Given the description of an element on the screen output the (x, y) to click on. 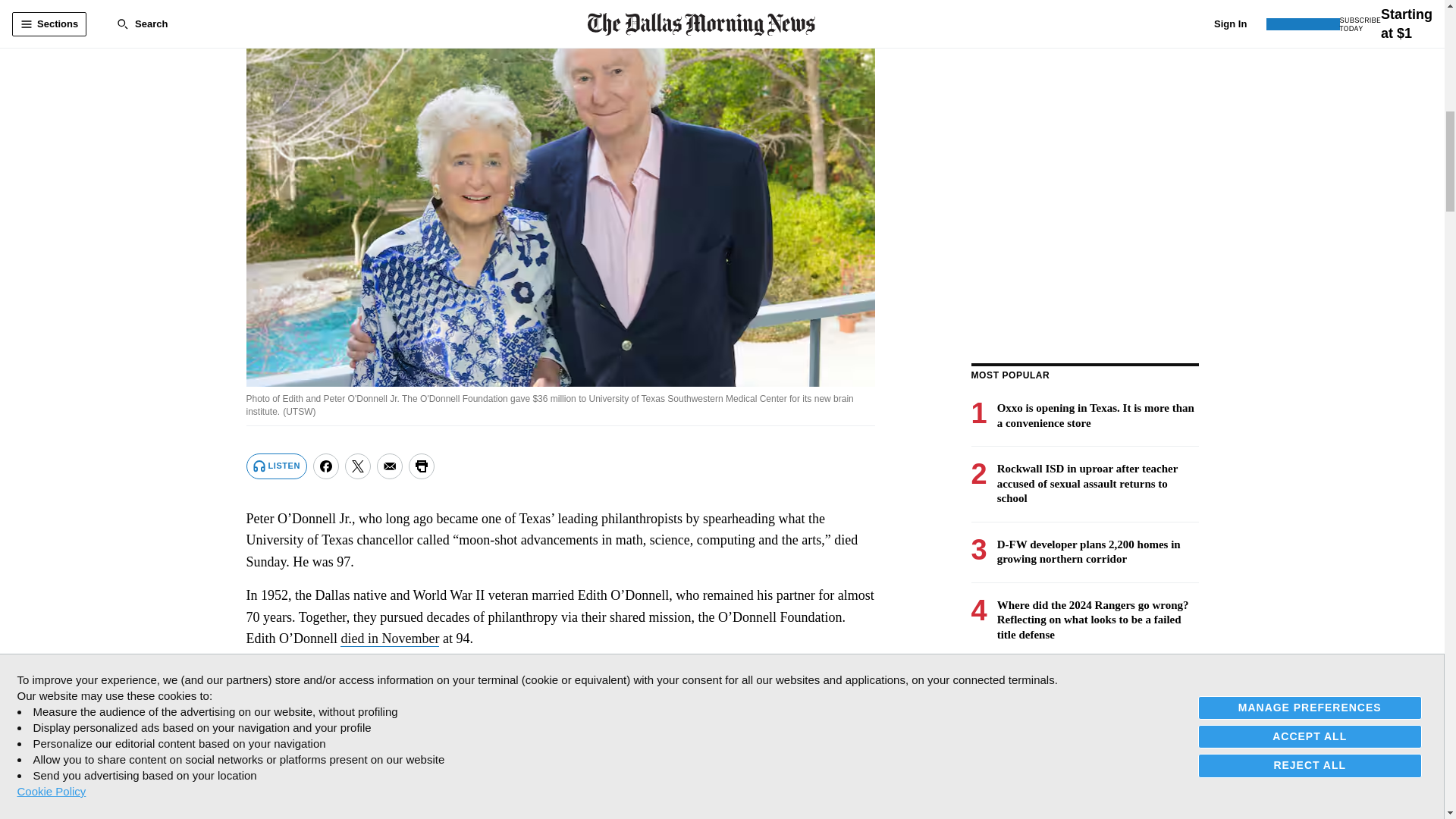
Print (421, 466)
Share on Twitter (358, 466)
Share on Facebook (326, 466)
Share via Email (390, 466)
